Given the description of an element on the screen output the (x, y) to click on. 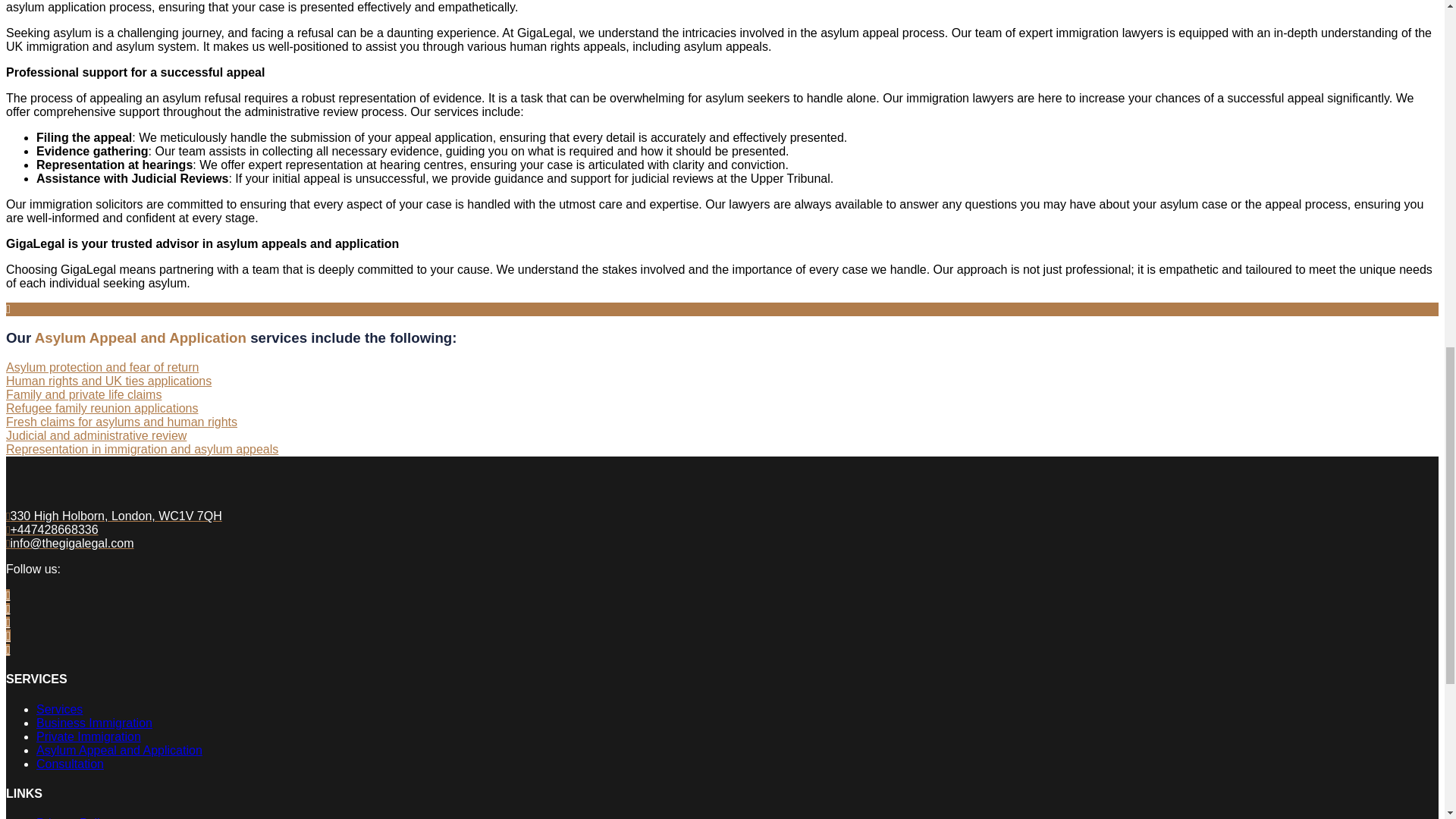
Human rights and UK ties applications (108, 380)
Asylum Appeal and Application (119, 749)
Family and private life claims (83, 394)
Services (59, 708)
GL-Logo-V2-01 (96, 502)
Asylum protection and fear of return (101, 367)
Human rights and UK ties applications (108, 380)
330 High Holborn, London, WC1V 7QH (113, 515)
Family and private life claims (83, 394)
Asylum protection and fear of return (101, 367)
